Given the description of an element on the screen output the (x, y) to click on. 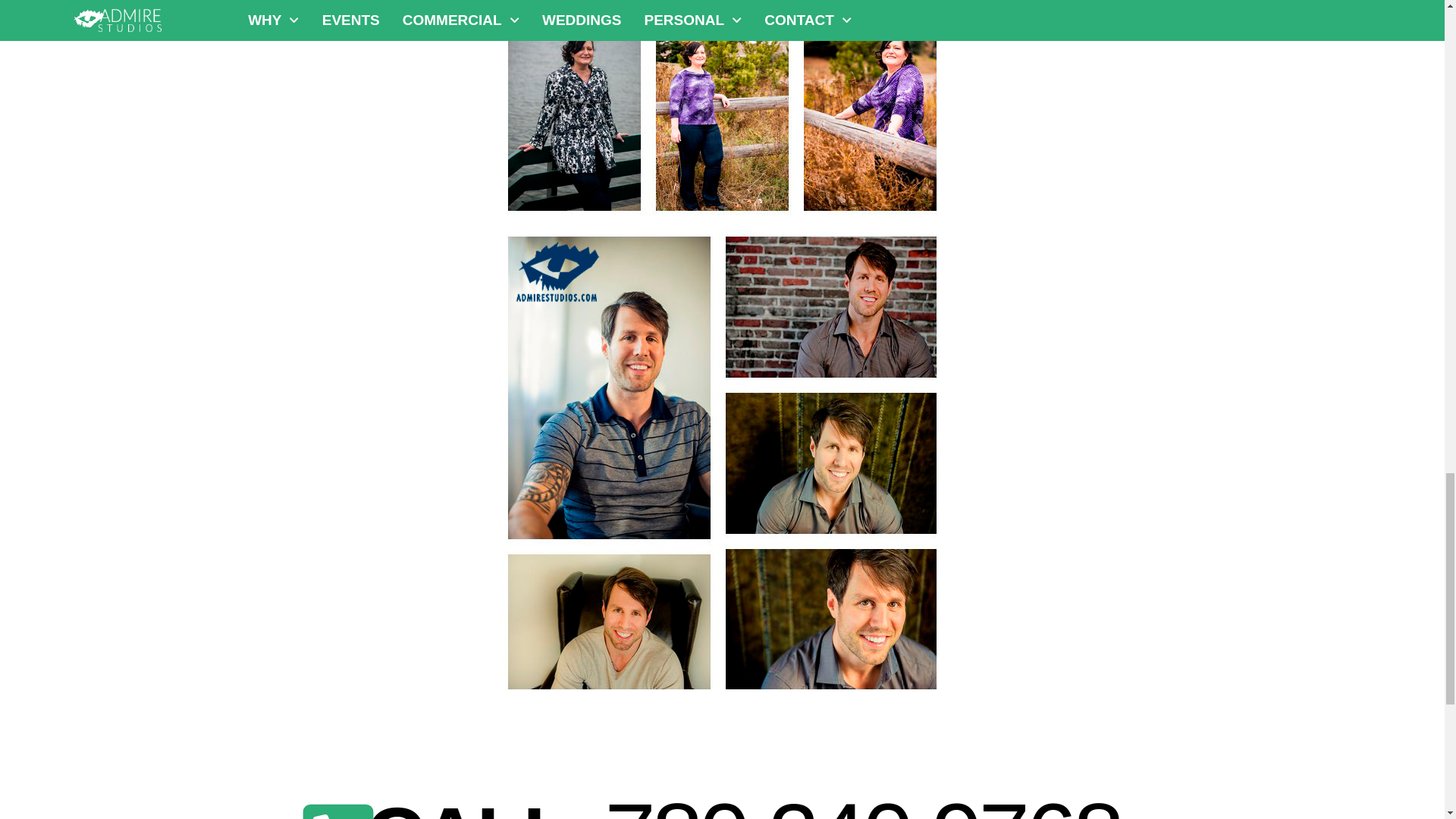
portrait photographer (721, 109)
